Given the description of an element on the screen output the (x, y) to click on. 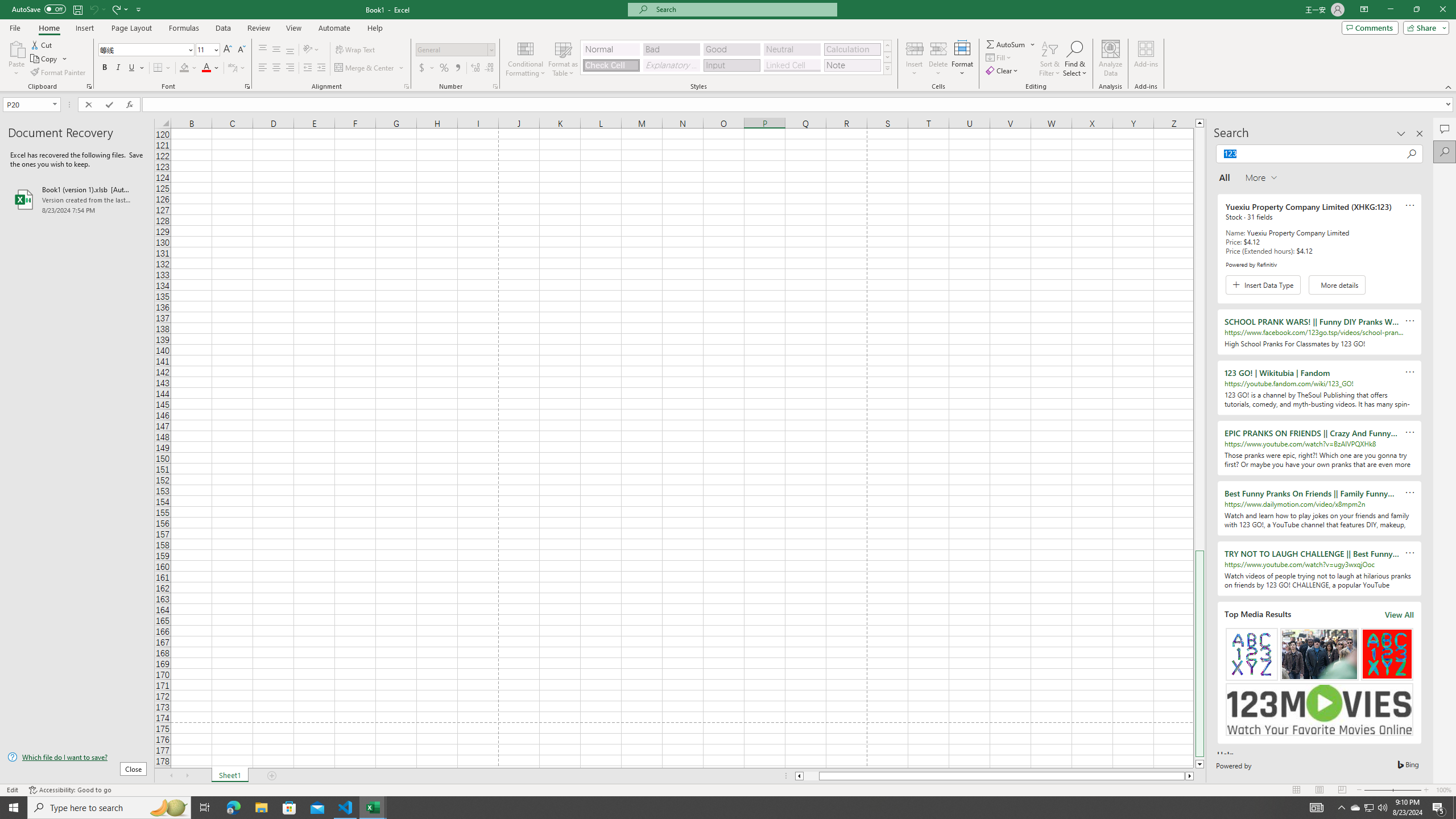
Show Phonetic Field (231, 67)
Format Cell Number (494, 85)
Merge & Center (365, 67)
Sum (1006, 44)
Middle Align (276, 49)
Increase Decimal (474, 67)
